Given the description of an element on the screen output the (x, y) to click on. 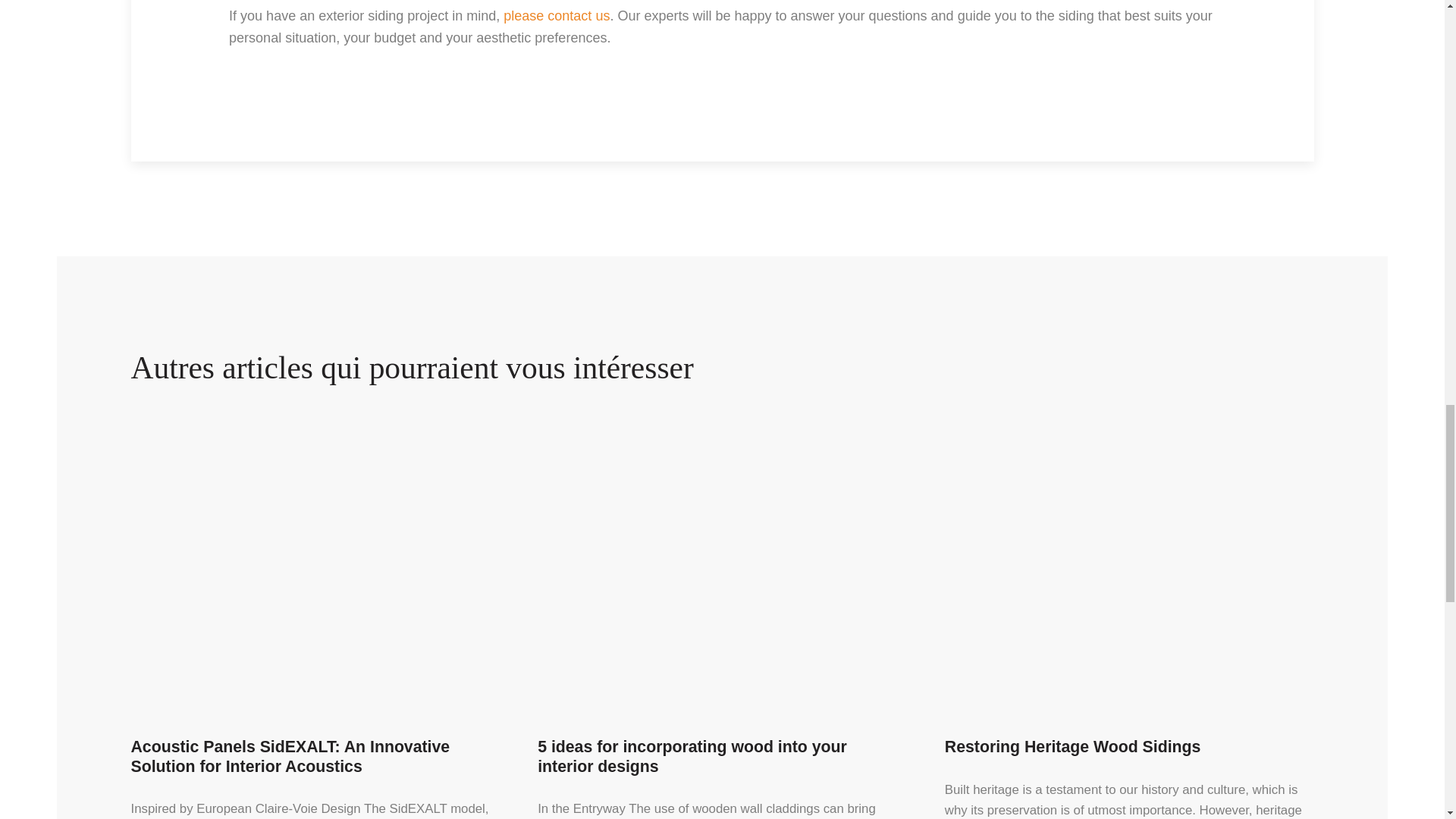
please contact us (556, 15)
